Given the description of an element on the screen output the (x, y) to click on. 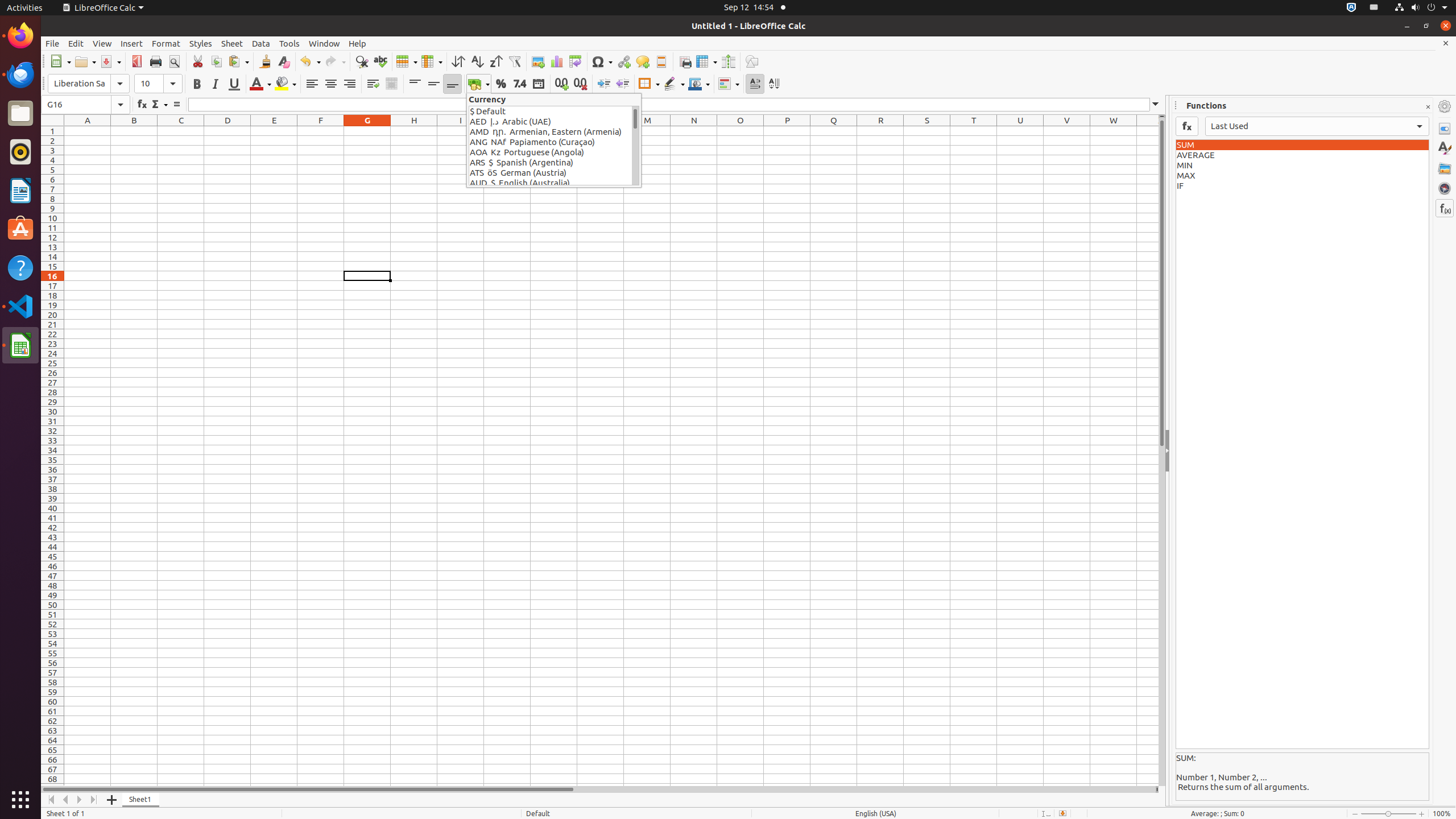
S1 Element type: table-cell (926, 130)
Background Color Element type: push-button (285, 83)
Styles Element type: radio-button (1444, 148)
Date Element type: push-button (537, 83)
Tools Element type: menu (289, 43)
